Given the description of an element on the screen output the (x, y) to click on. 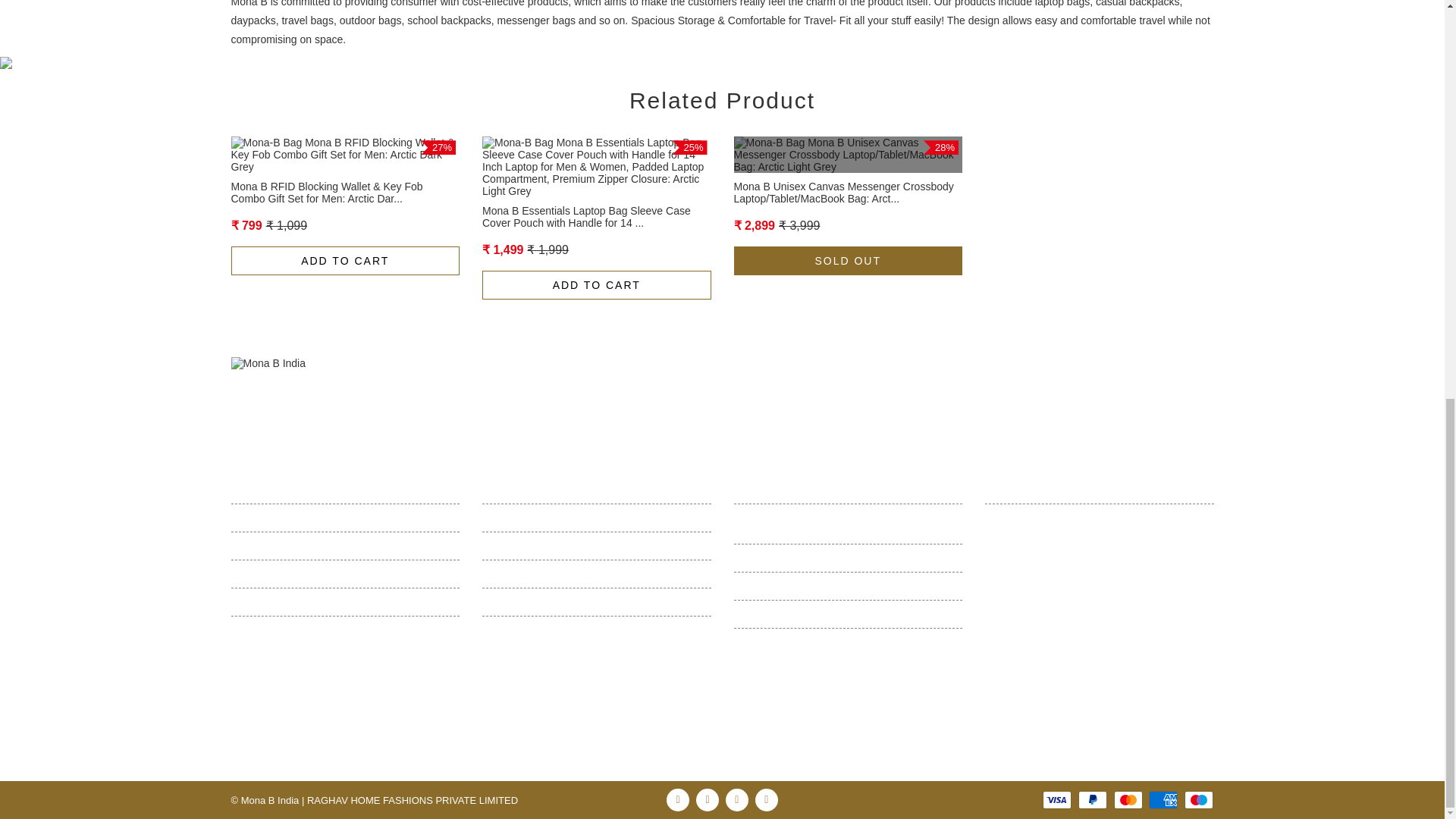
Mastercard (1127, 800)
PayPal (1092, 800)
American Express (1162, 800)
Visa (1056, 800)
Maestro (1198, 800)
